Given the description of an element on the screen output the (x, y) to click on. 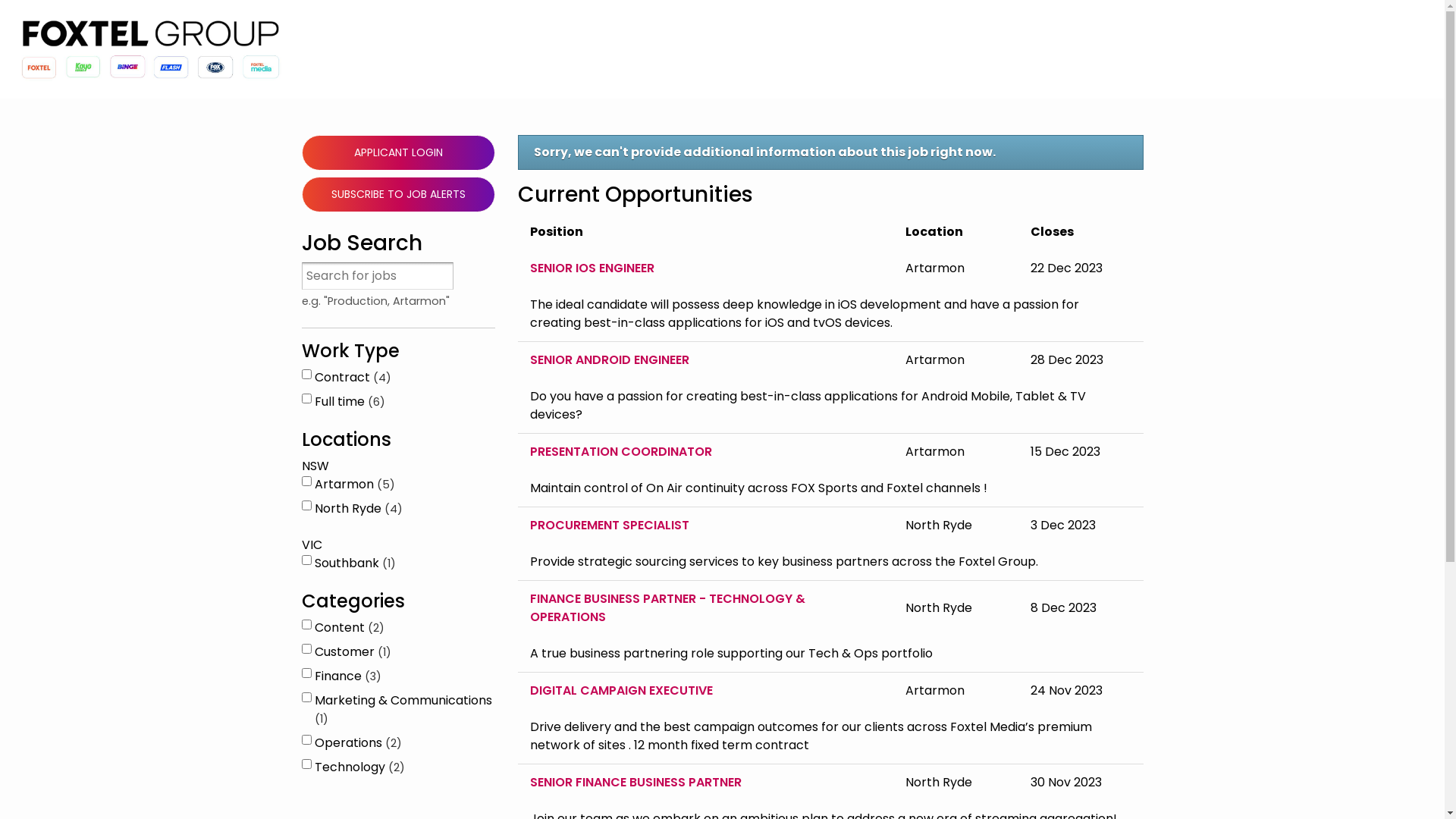
SENIOR IOS ENGINEER Element type: text (704, 268)
SENIOR FINANCE BUSINESS PARTNER Element type: text (704, 782)
APPLICANT LOGIN Element type: text (398, 152)
SENIOR ANDROID ENGINEER Element type: text (704, 360)
SUBSCRIBE TO JOB ALERTS Element type: text (398, 194)
PRESENTATION COORDINATOR Element type: text (704, 451)
PROCUREMENT SPECIALIST Element type: text (704, 525)
DIGITAL CAMPAIGN EXECUTIVE Element type: text (704, 690)
FINANCE BUSINESS PARTNER - TECHNOLOGY & OPERATIONS Element type: text (704, 607)
